Given the description of an element on the screen output the (x, y) to click on. 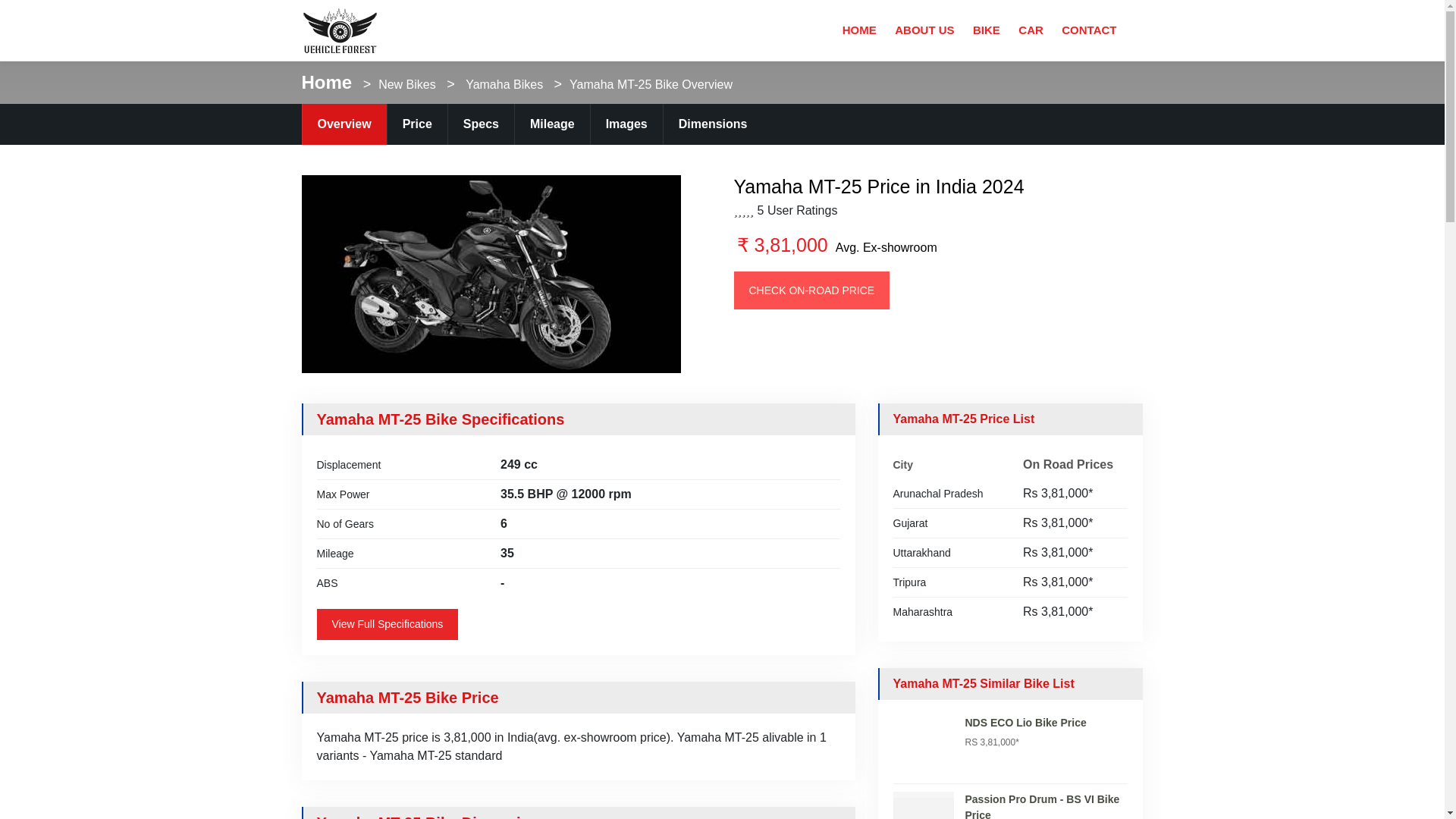
5 User Ratings (797, 210)
View Full Specifications (387, 624)
Contact (1088, 30)
NDS ECO Lio Bike Price (1024, 722)
Home (326, 82)
Dimensions (712, 124)
 Us (924, 30)
MT-25 (491, 274)
CONTACT (1088, 30)
Passion Pro Drum - BS VI Bike Price (1044, 805)
